Given the description of an element on the screen output the (x, y) to click on. 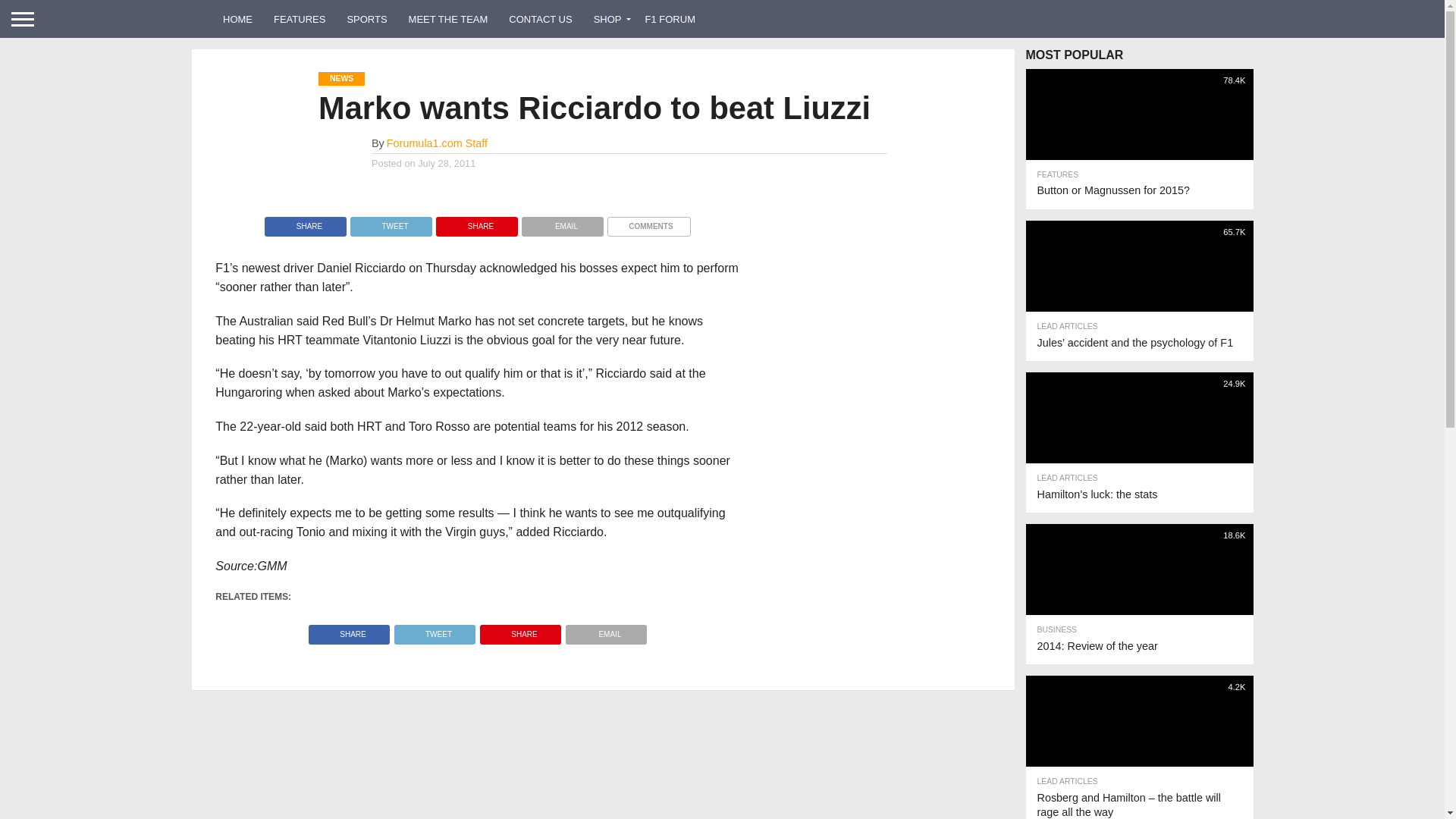
SHOP (608, 18)
Share on Facebook (305, 222)
Tweet This Post (434, 630)
MEET THE TEAM (448, 18)
Share on Facebook (349, 630)
Pin This Post (476, 222)
CONTACT US (539, 18)
SPORTS (366, 18)
Pin This Post (520, 630)
F1 FORUM (670, 18)
HOME (237, 18)
FEATURES (299, 18)
Posts by Forumula1.com Staff (437, 143)
Tweet This Post (390, 222)
